Given the description of an element on the screen output the (x, y) to click on. 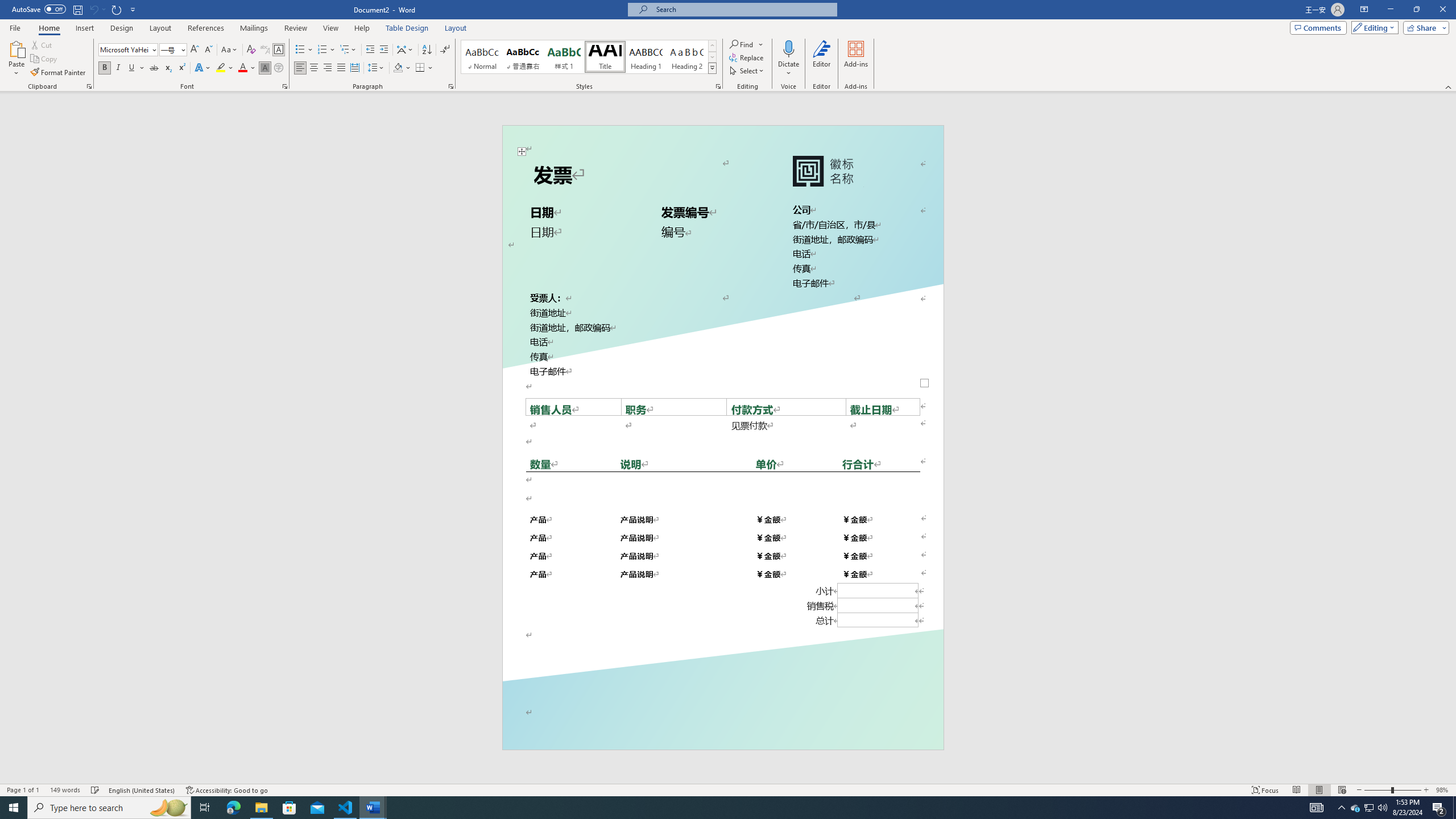
Paragraph... (450, 85)
Styles... (717, 85)
Grow Font (193, 49)
Zoom 98% (1443, 790)
Enclose Characters... (278, 67)
Sort... (426, 49)
Borders (419, 67)
First Page Footer -Section 1- (722, 723)
Asian Layout (405, 49)
Quick Access Toolbar (74, 9)
Align Right (327, 67)
Replace... (747, 56)
Center (313, 67)
First Page Header -Section 1- (722, 140)
Design (122, 28)
